Given the description of an element on the screen output the (x, y) to click on. 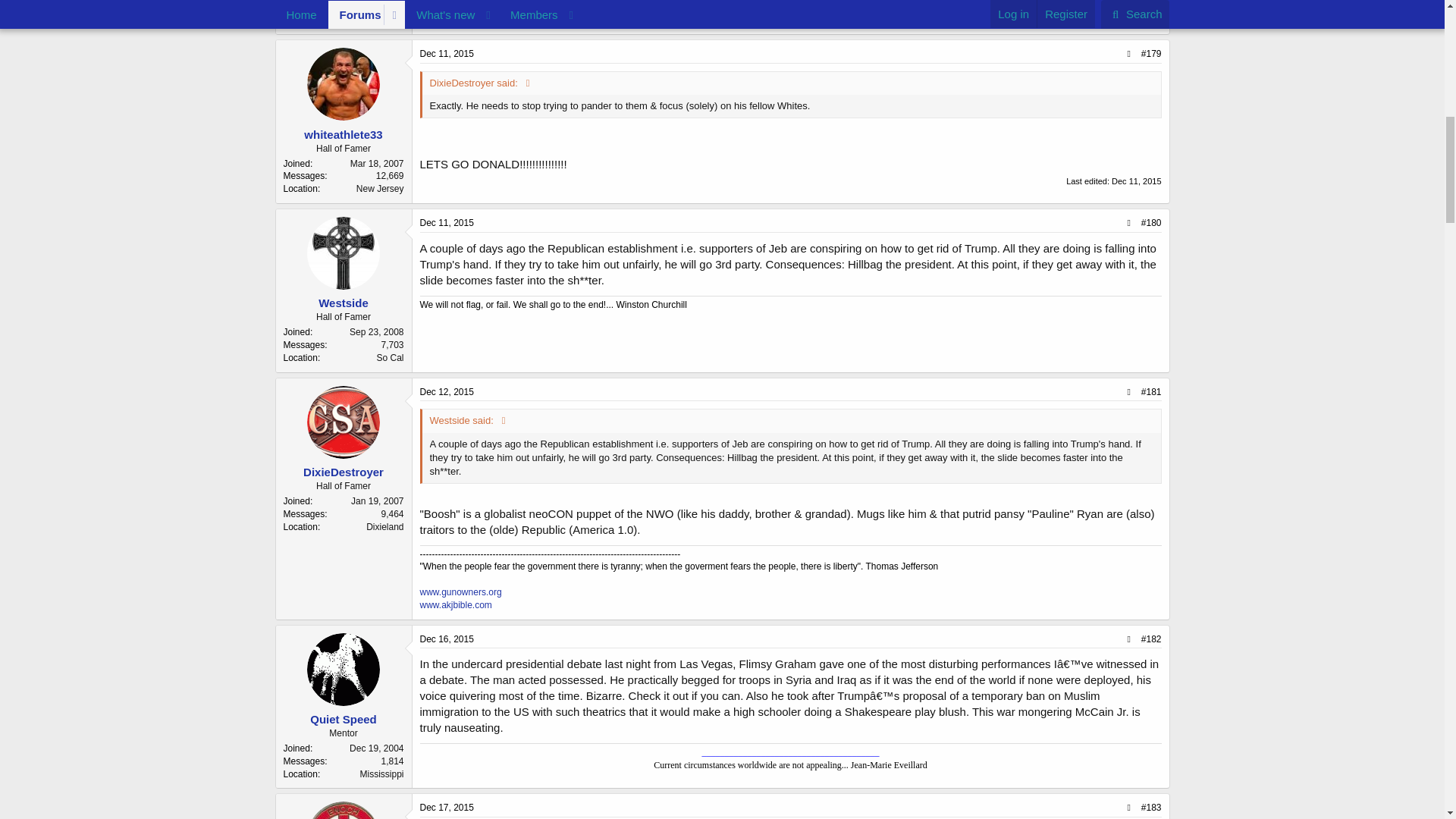
Dec 11, 2015 at 10:40 PM (447, 222)
Dec 11, 2015 at 10:07 PM (447, 53)
Dec 12, 2015 at 10:44 PM (447, 391)
Dec 16, 2015 at 7:07 PM (447, 638)
Dec 17, 2015 at 9:44 AM (447, 807)
Dec 11, 2015 at 10:16 PM (1136, 180)
